Given the description of an element on the screen output the (x, y) to click on. 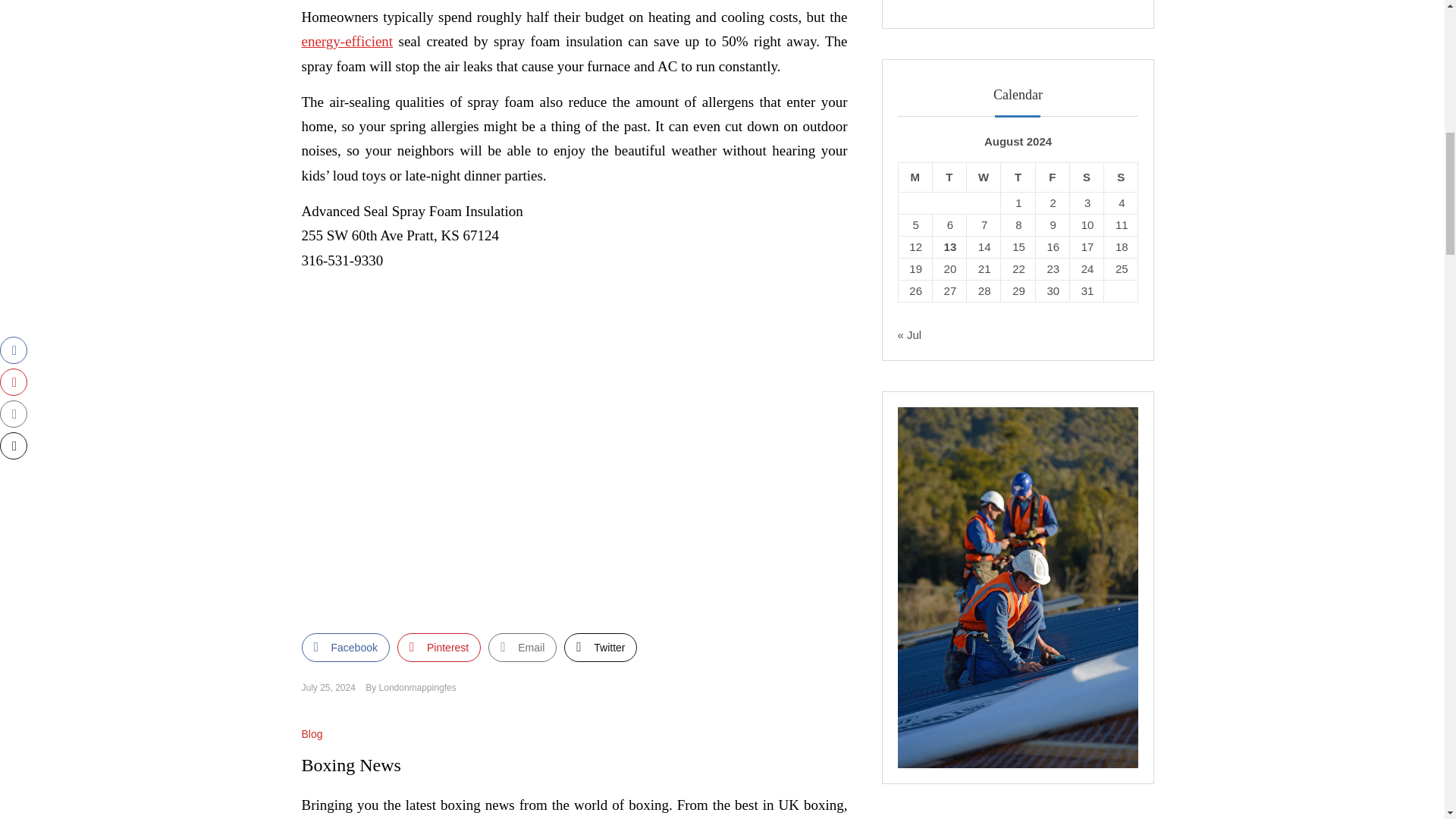
Sunday (1120, 177)
Blog (313, 734)
Friday (1051, 177)
energy-efficient (347, 41)
Tuesday (948, 177)
July 25, 2024 (328, 687)
Email (521, 647)
Thursday (1018, 177)
Boxing News (351, 764)
Monday (914, 177)
